Given the description of an element on the screen output the (x, y) to click on. 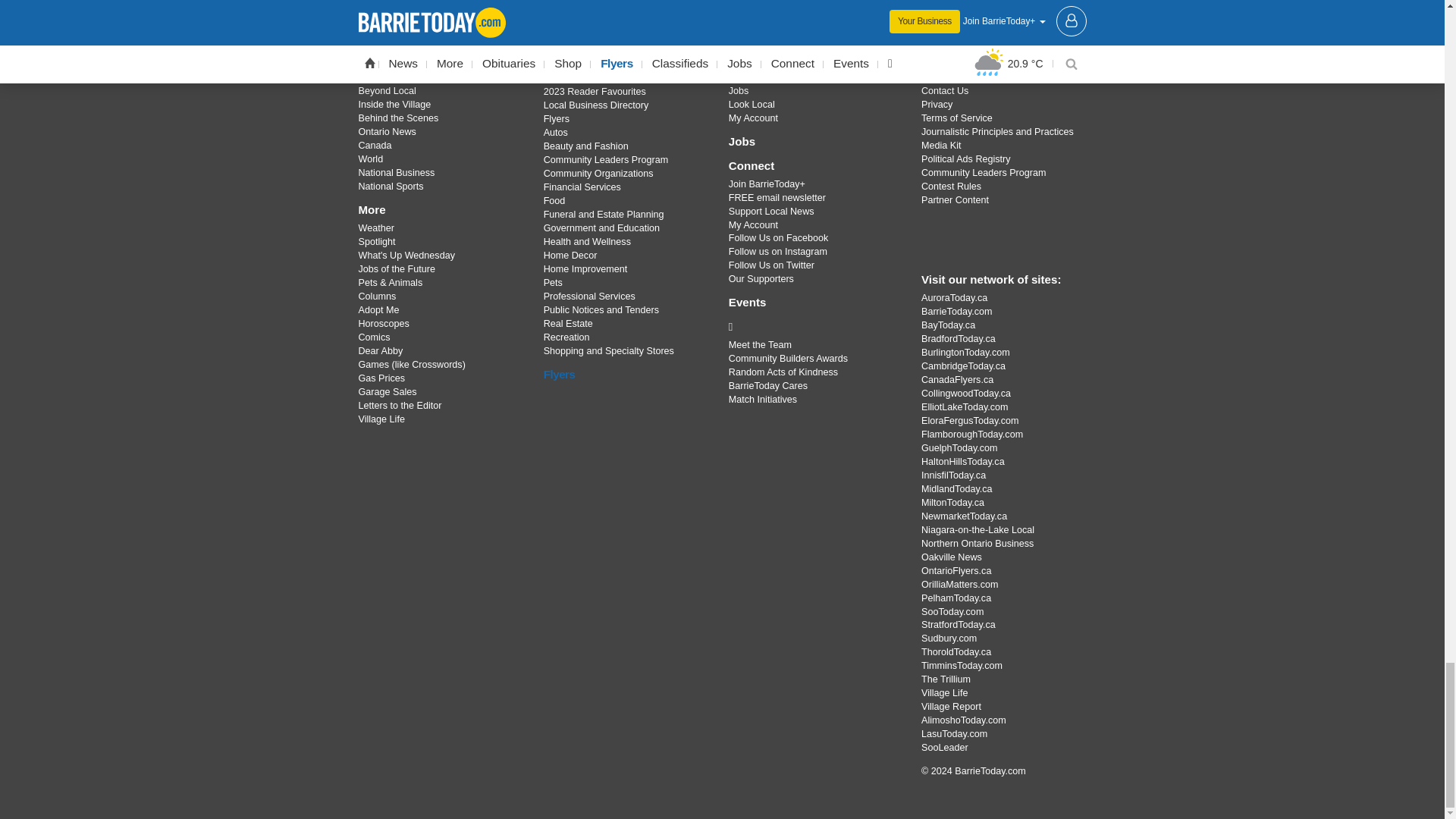
BarrieToday Cares (813, 326)
